Given the description of an element on the screen output the (x, y) to click on. 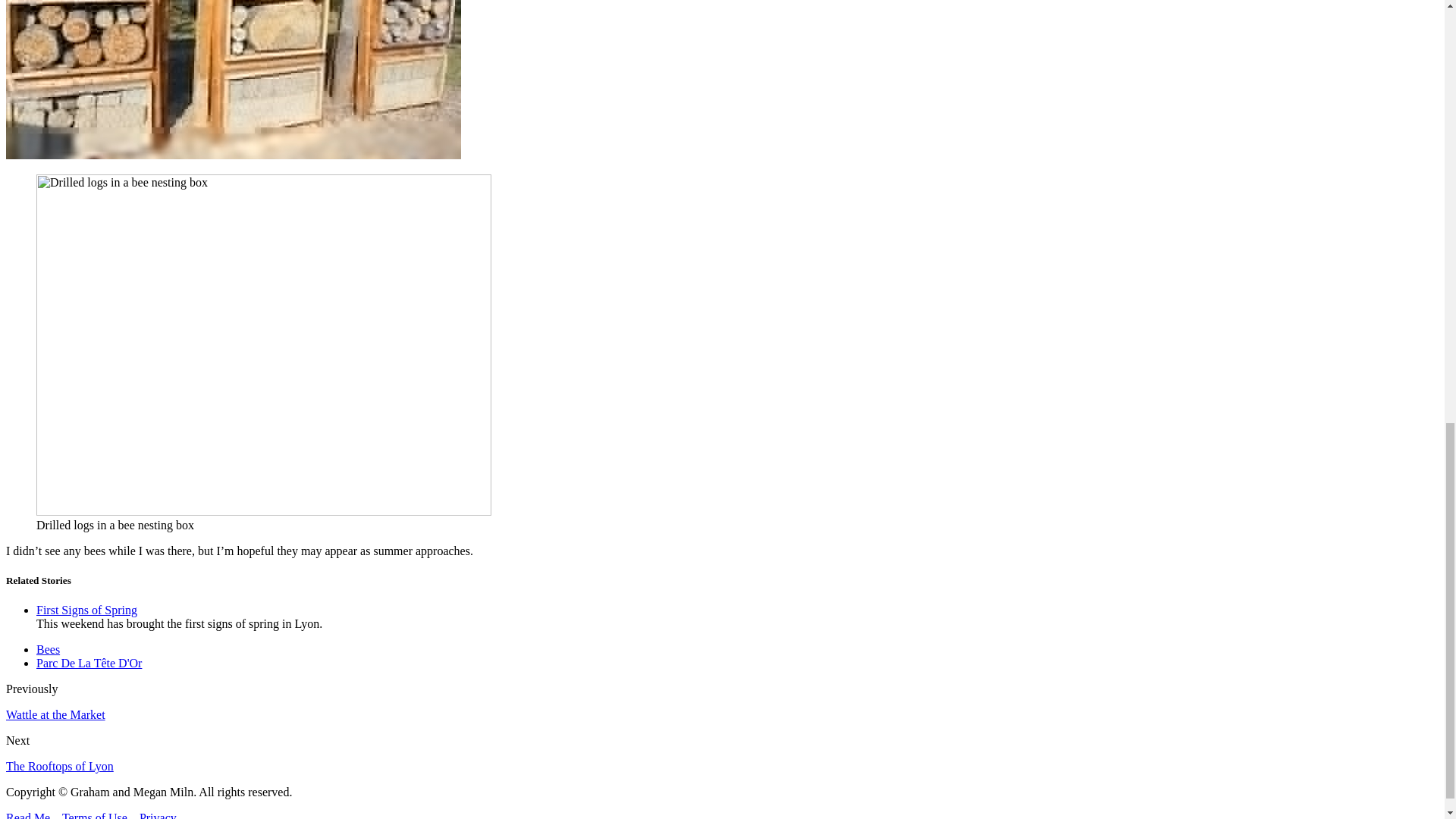
First Signs of Spring (86, 609)
Bees (47, 649)
The Rooftops of Lyon (59, 766)
Wattle at the Market (54, 714)
Different nesting materials in bee shelters (233, 79)
